Given the description of an element on the screen output the (x, y) to click on. 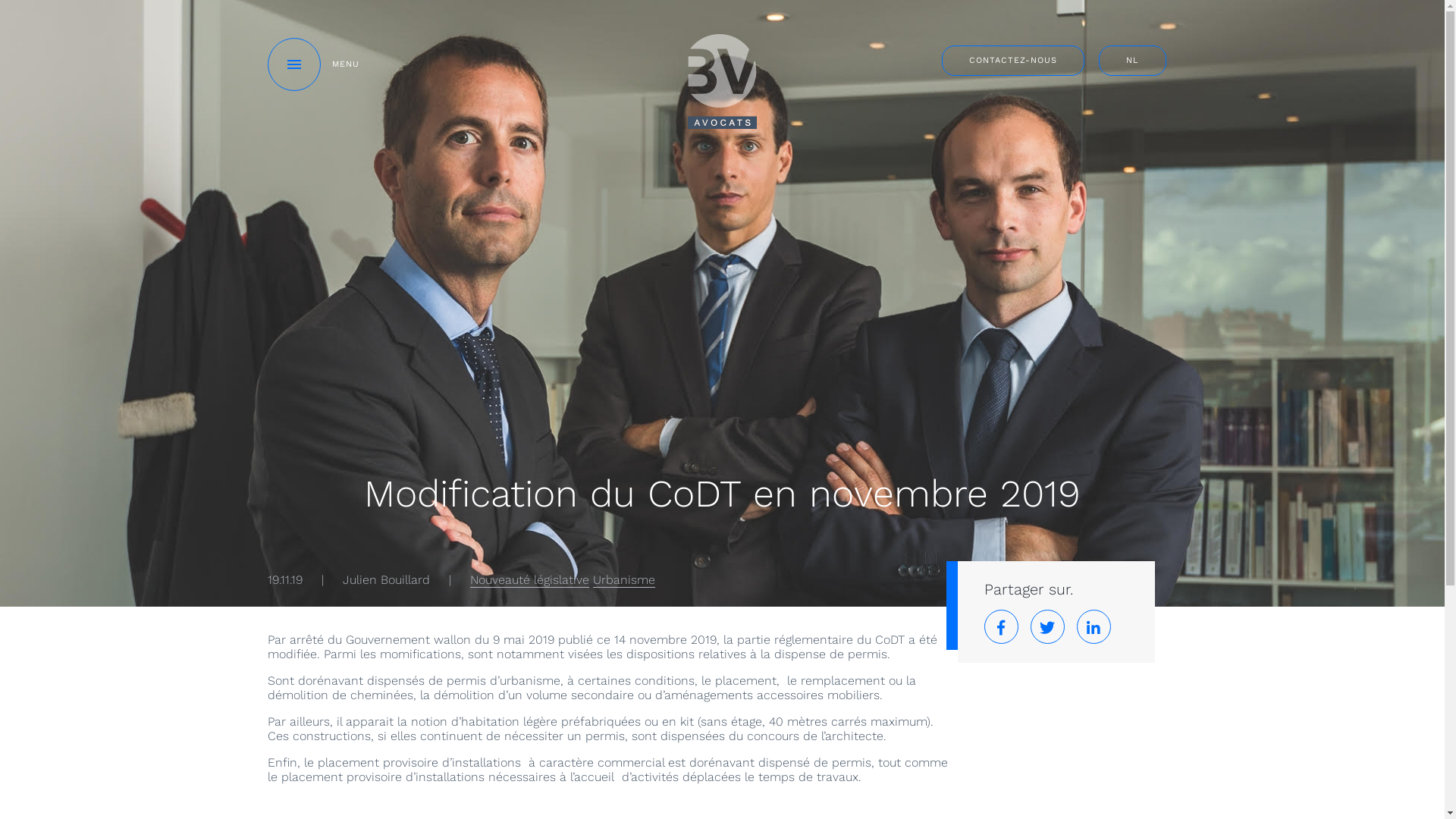
NL Element type: text (1131, 60)
Urbanisme Element type: text (624, 579)
CONTACTEZ-NOUS Element type: text (1012, 60)
